Given the description of an element on the screen output the (x, y) to click on. 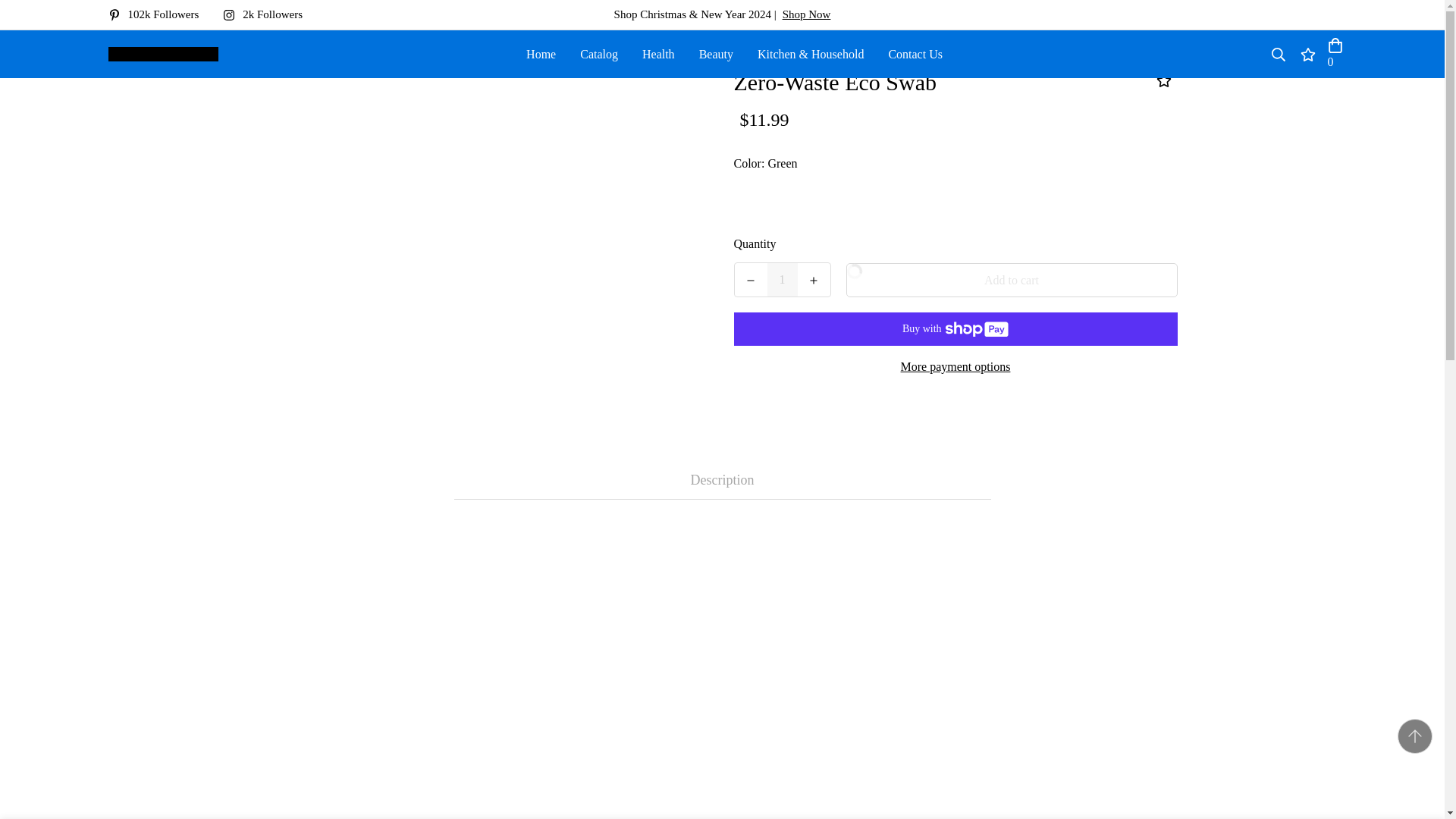
1 (782, 279)
Home (540, 53)
Shop Now (807, 14)
Health (658, 53)
Catalog (598, 53)
102k Followers (158, 14)
Beauty (716, 53)
2k Followers (268, 14)
Contact Us (915, 53)
